Given the description of an element on the screen output the (x, y) to click on. 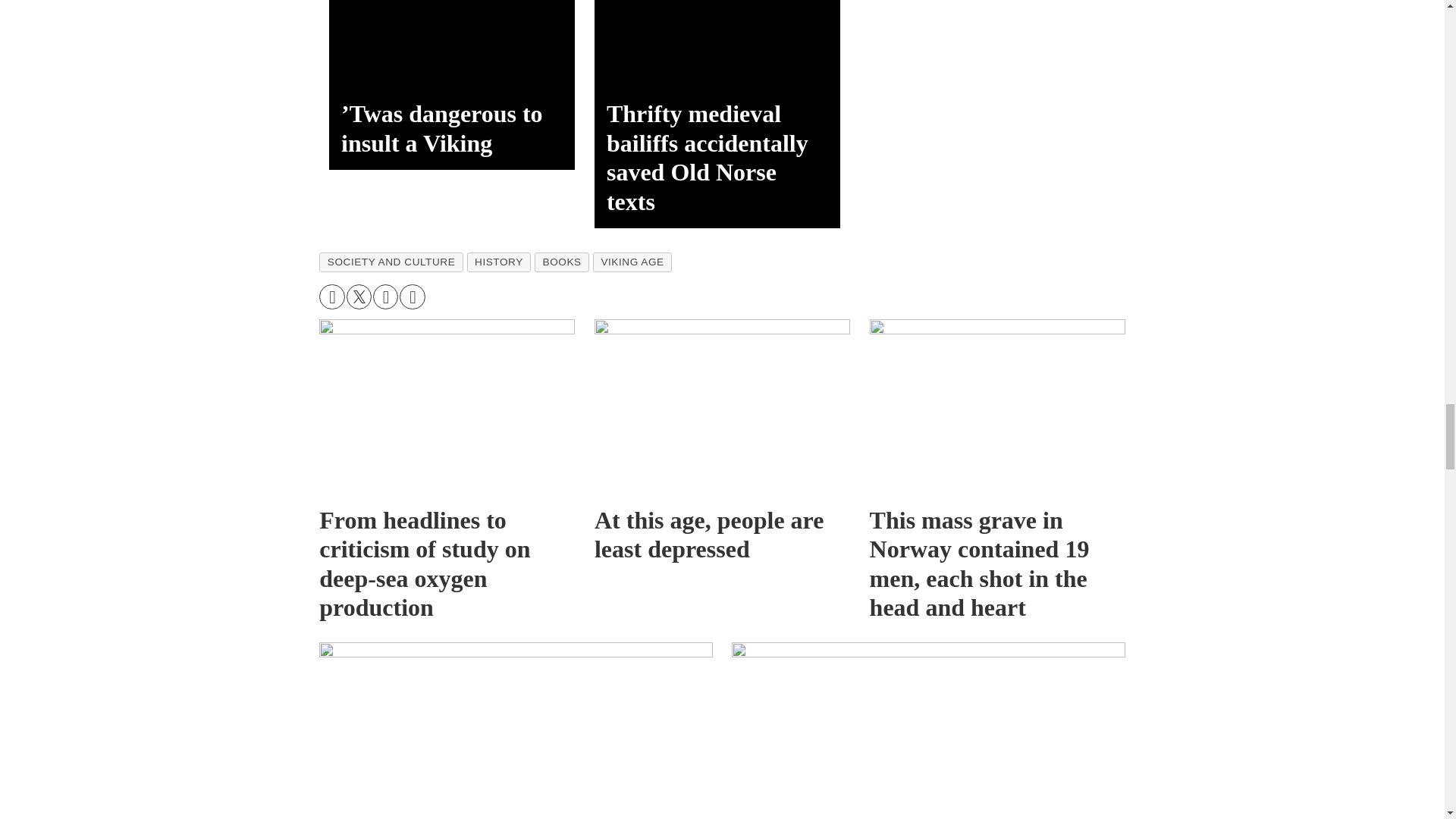
Thrifty medieval bailiffs accidentally saved Old Norse texts (717, 43)
At this age, people are least depressed (722, 406)
